Given the description of an element on the screen output the (x, y) to click on. 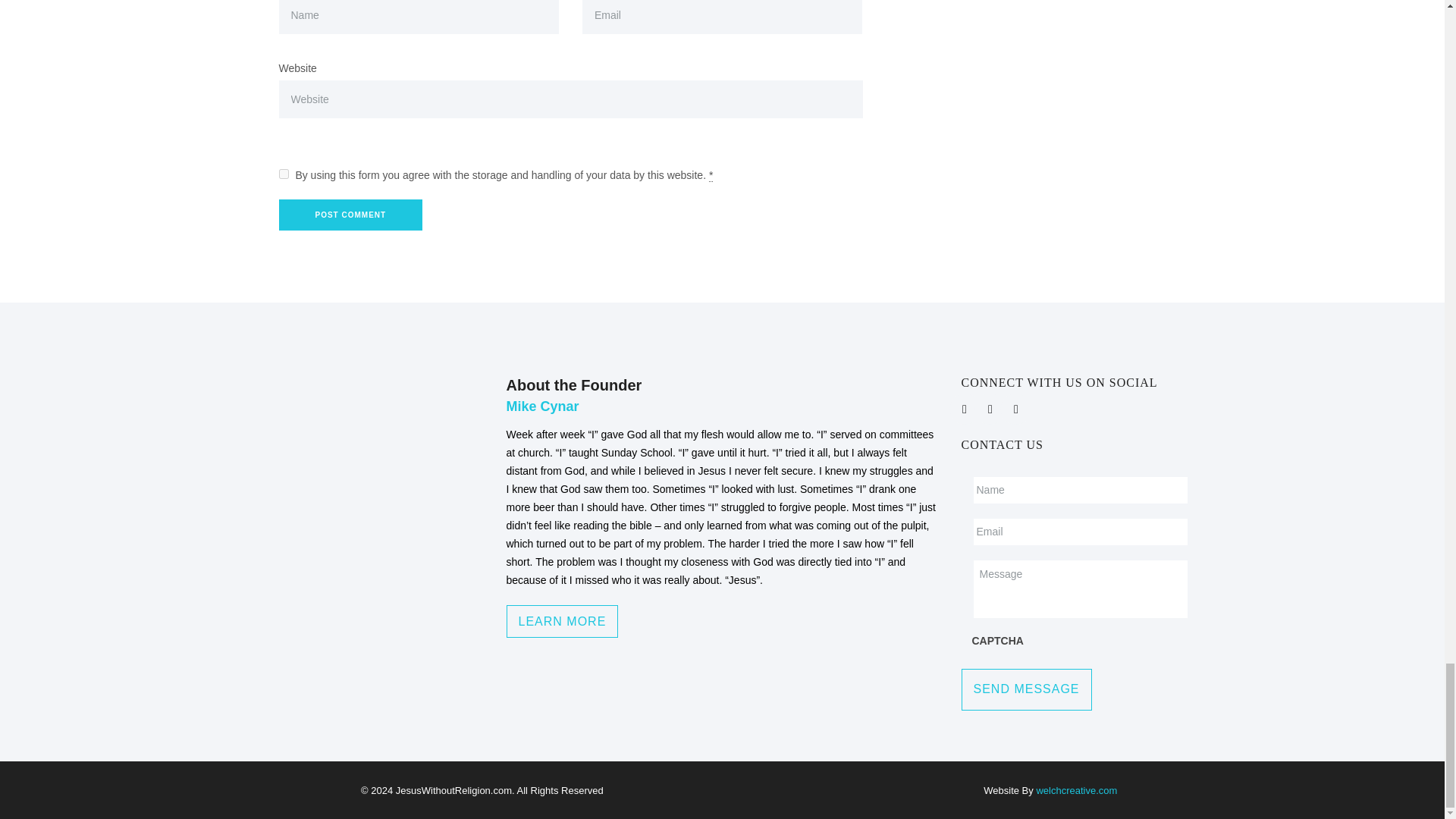
Post Comment (351, 214)
1 (283, 173)
SEND MESSAGE (1026, 689)
